Given the description of an element on the screen output the (x, y) to click on. 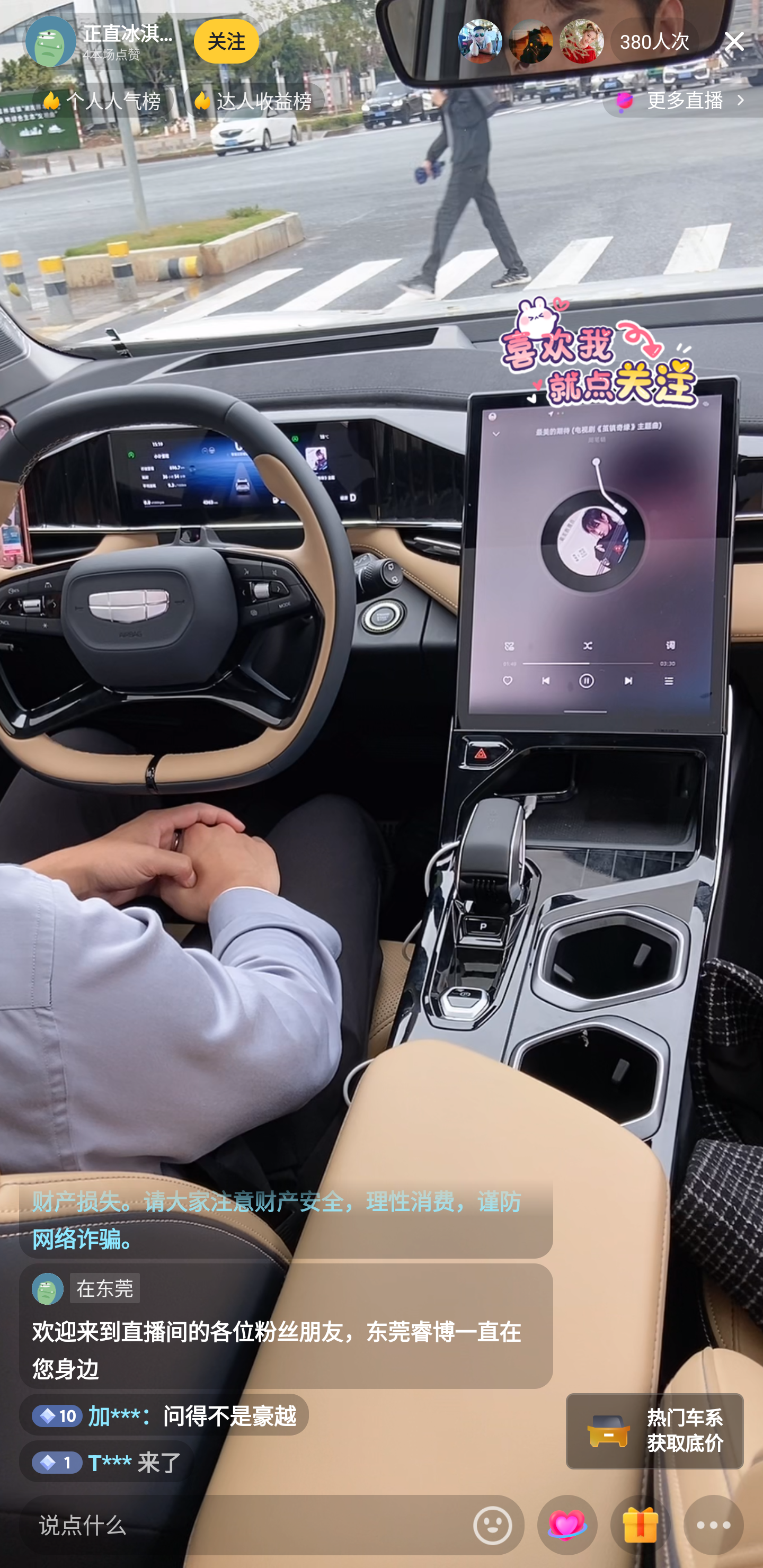
榜一 @*** (479, 41)
榜二 缥*** (530, 41)
榜三 @*** (581, 41)
主播正直冰淇淋PXA 4本场点赞  正直冰淇淋PXA 4本场点赞 关注 (143, 41)
380人次 (654, 41)
关注 (226, 41)
关闭 (733, 41)
个人人气榜，按钮 (102, 100)
达人收益榜，按钮 (254, 100)
更多直播 (682, 100)
热门车系 获取底价 (654, 1431)
* 加***：问得不是豪越 (164, 1414)
* T*** 来了 (106, 1460)
说点什么 (241, 1524)
表情入口 (492, 1524)
礼物 (640, 1526)
更多面板 按钮 (713, 1526)
小心心 (567, 1524)
